Given the description of an element on the screen output the (x, y) to click on. 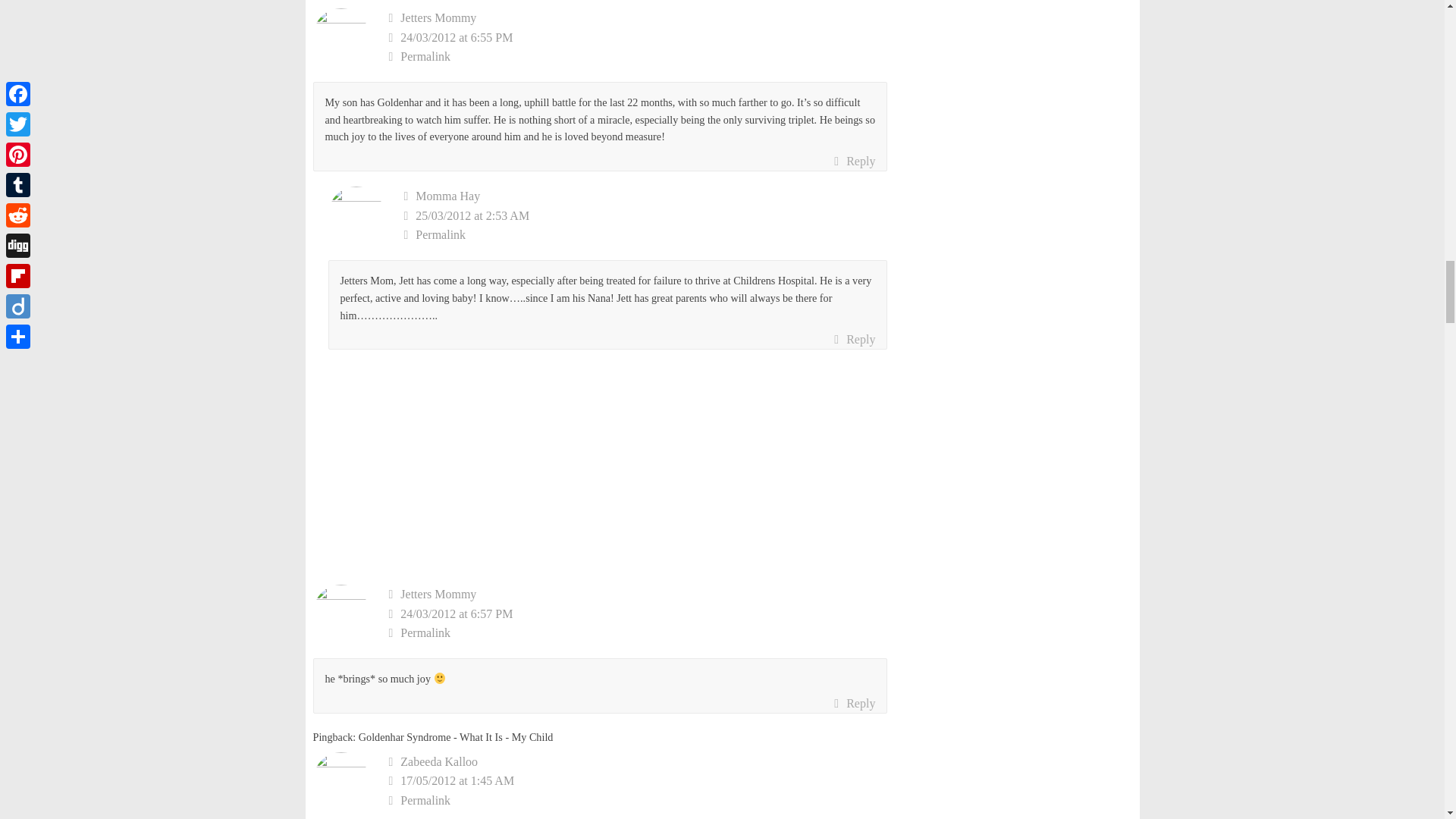
Permalink (644, 234)
Reply (854, 161)
Reply (854, 703)
Reply (854, 339)
Permalink (637, 632)
Permalink (637, 56)
Permalink (637, 800)
